Given the description of an element on the screen output the (x, y) to click on. 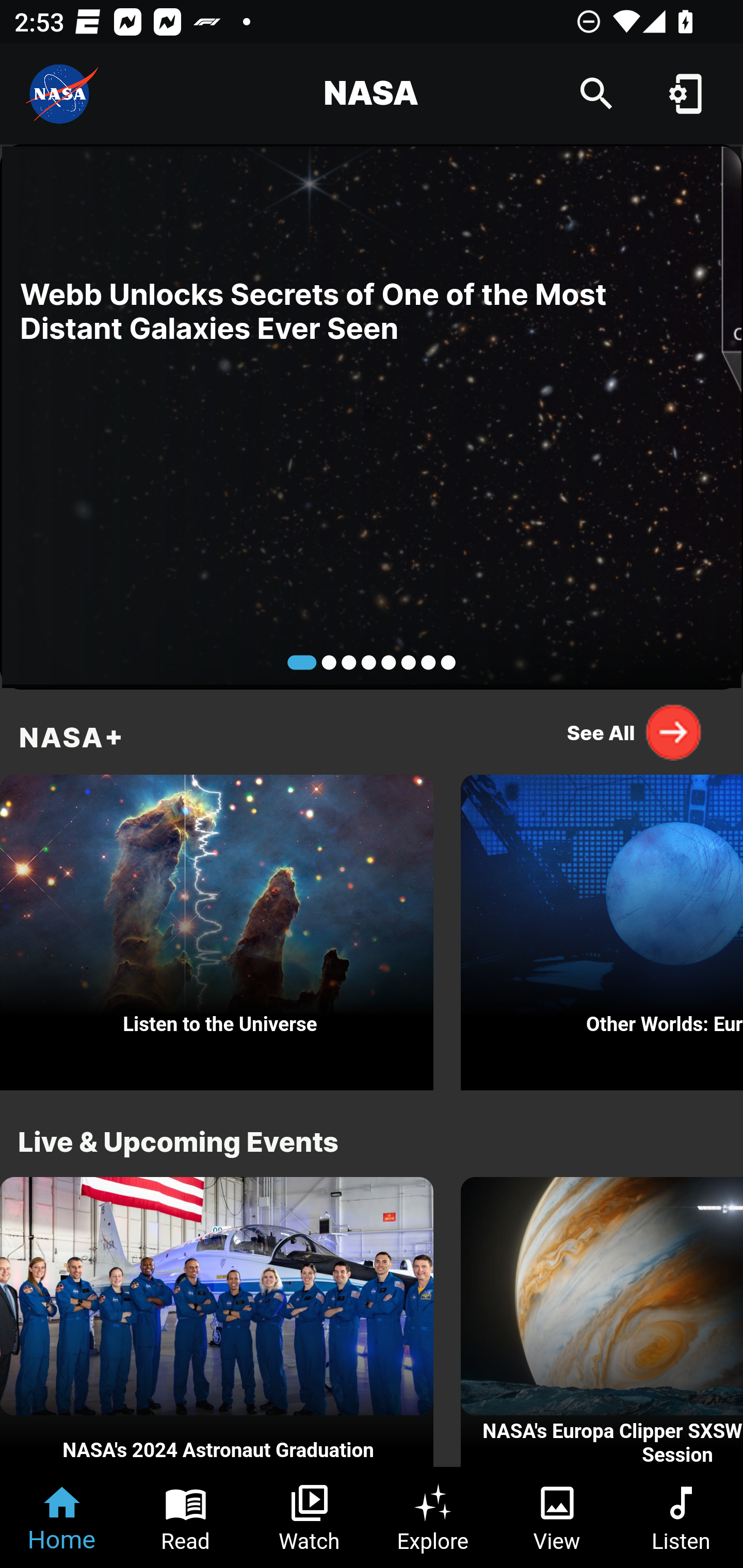
See All (634, 732)
Listen to the Universe (216, 927)
Other Worlds: Europa (601, 927)
NASA's 2024 Astronaut Graduation (216, 1322)
NASA's Europa Clipper SXSW 2024 Opening Session (601, 1322)
Home
Tab 1 of 6 (62, 1517)
Read
Tab 2 of 6 (185, 1517)
Watch
Tab 3 of 6 (309, 1517)
Explore
Tab 4 of 6 (433, 1517)
View
Tab 5 of 6 (556, 1517)
Listen
Tab 6 of 6 (680, 1517)
